Given the description of an element on the screen output the (x, y) to click on. 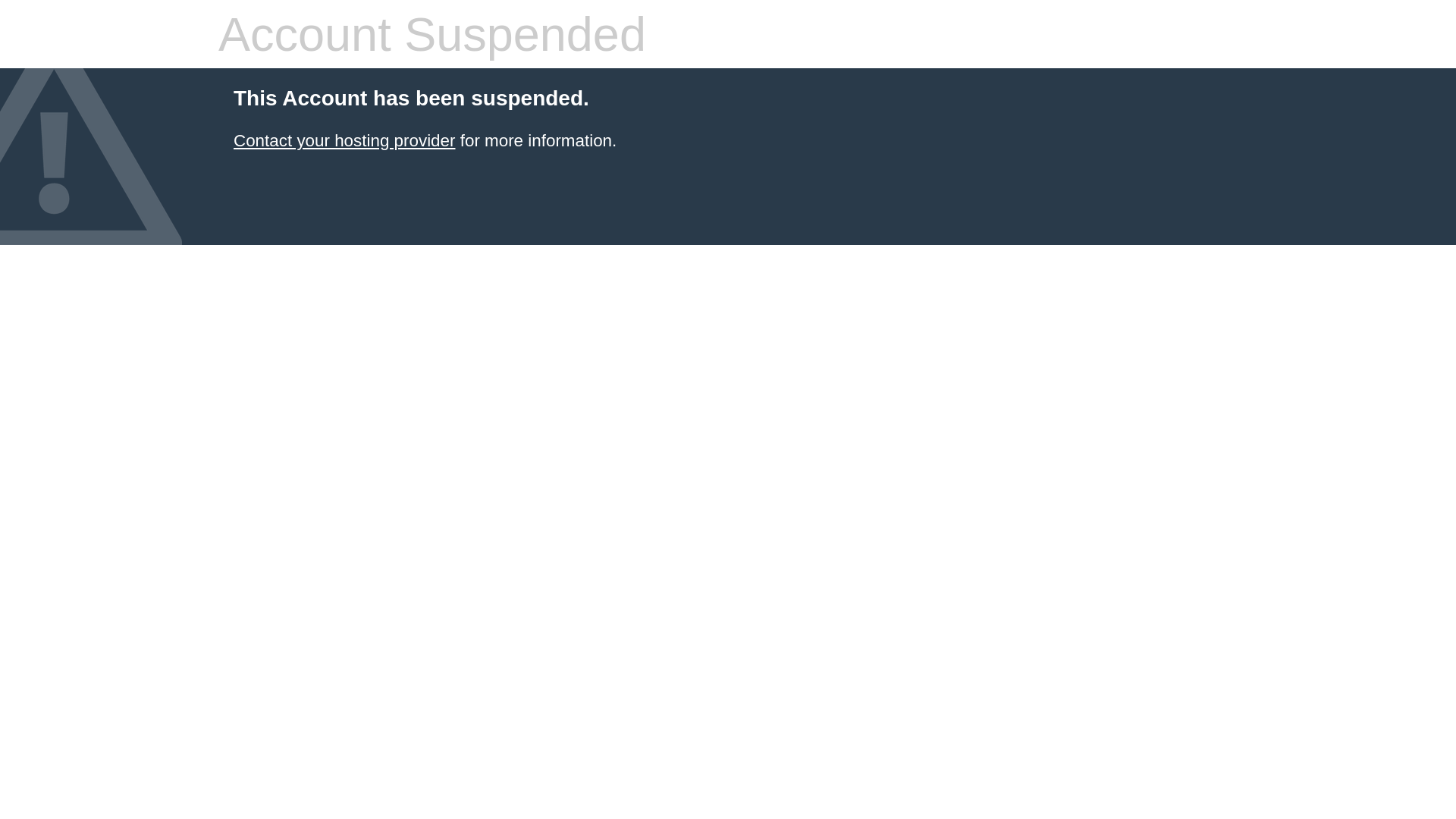
Contact your hosting provider Element type: text (344, 140)
